Given the description of an element on the screen output the (x, y) to click on. 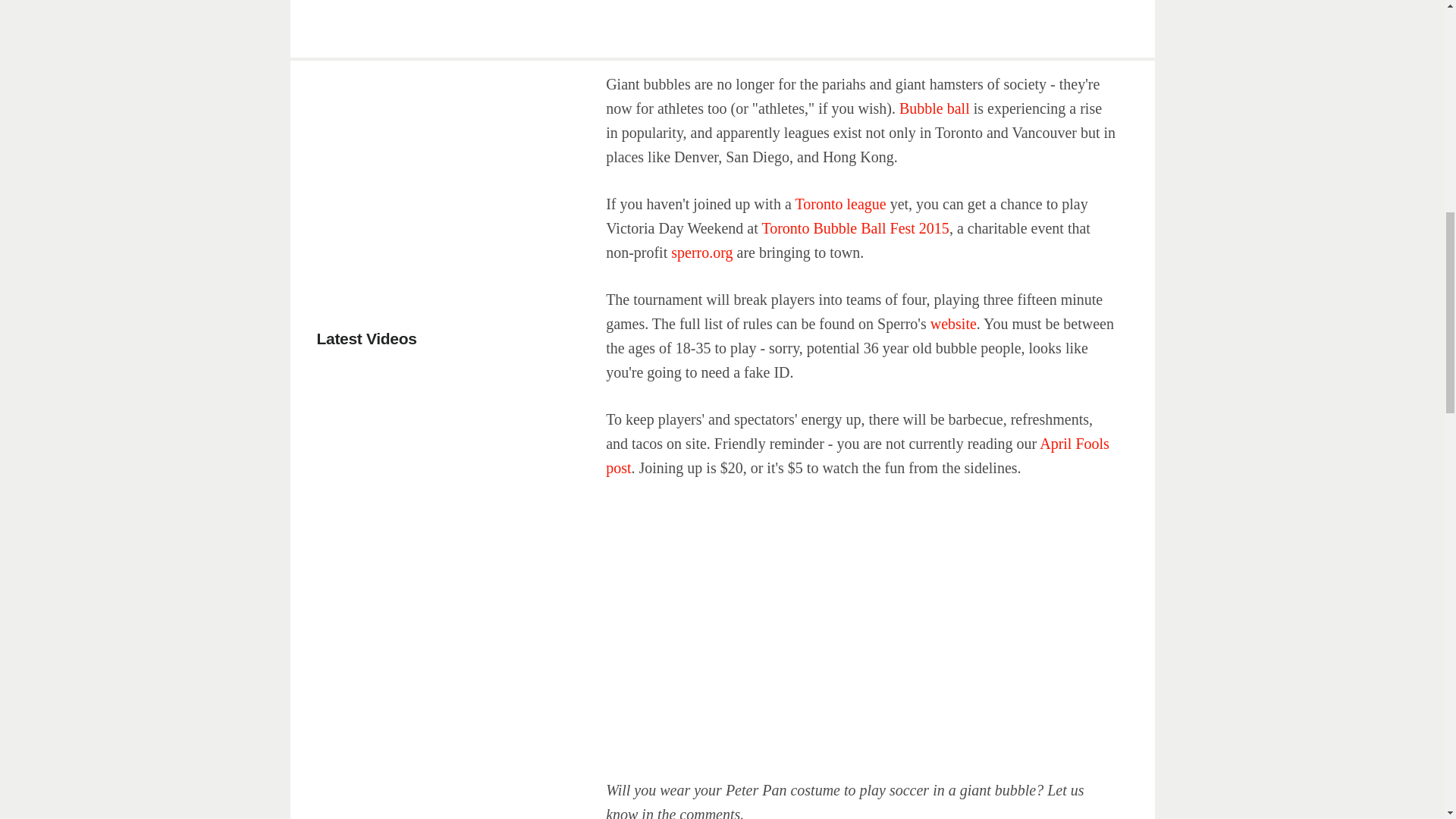
April Fools post (857, 454)
Bubble ball (934, 108)
sperro.org (701, 252)
Toronto league (839, 203)
Toronto Bubble Ball Fest 2015 (855, 228)
website (953, 323)
